Given the description of an element on the screen output the (x, y) to click on. 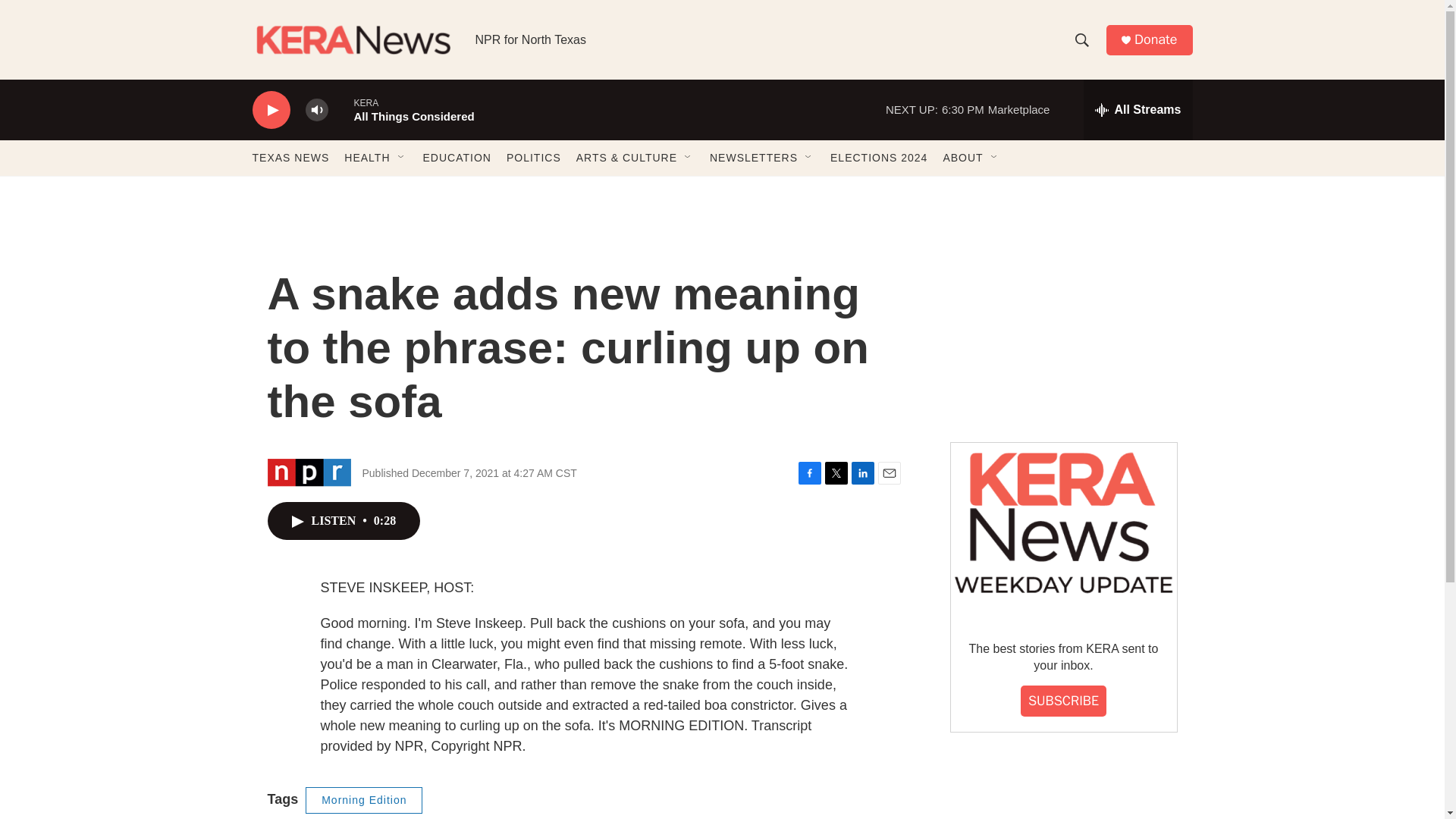
3rd party ad content (1062, 316)
Show Search (1081, 39)
